Given the description of an element on the screen output the (x, y) to click on. 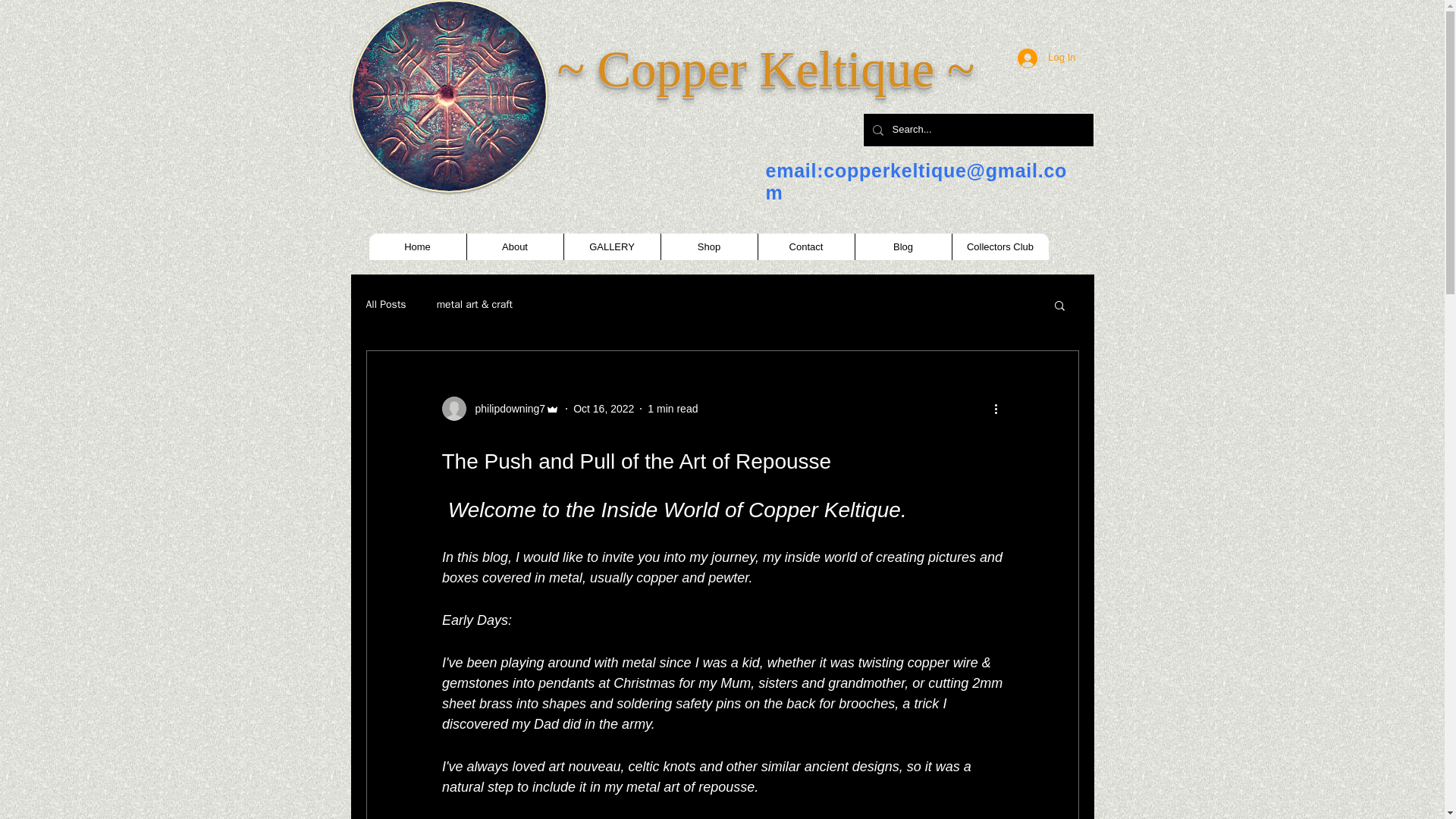
Contact (805, 246)
Blog (901, 246)
philipdowning7 (500, 408)
Home (416, 246)
1 min read (672, 408)
philipdowning7 (504, 408)
About (513, 246)
GALLERY (610, 246)
Oct 16, 2022 (603, 408)
All Posts (385, 305)
